Given the description of an element on the screen output the (x, y) to click on. 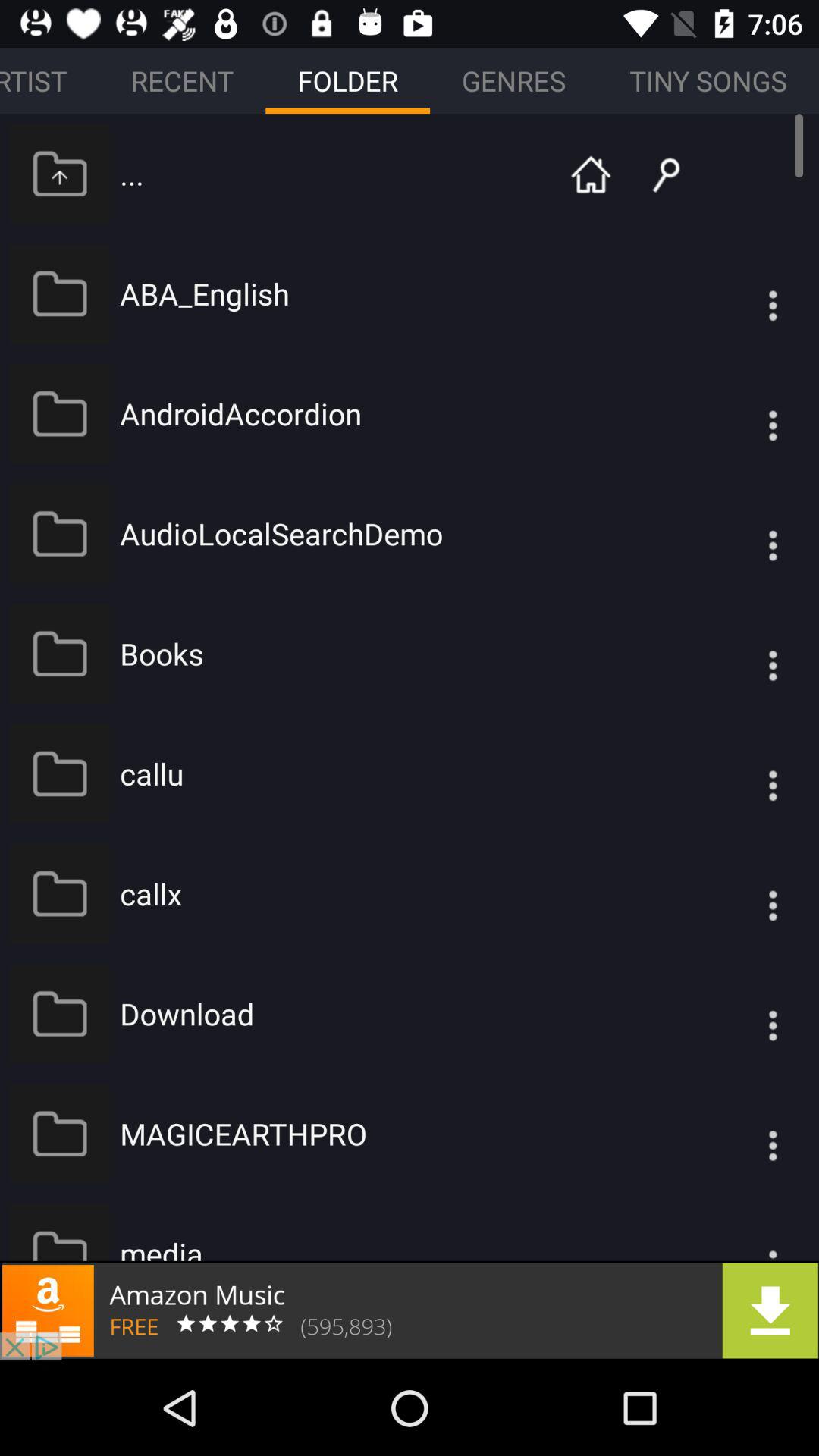
toggle autoplay option (742, 893)
